Given the description of an element on the screen output the (x, y) to click on. 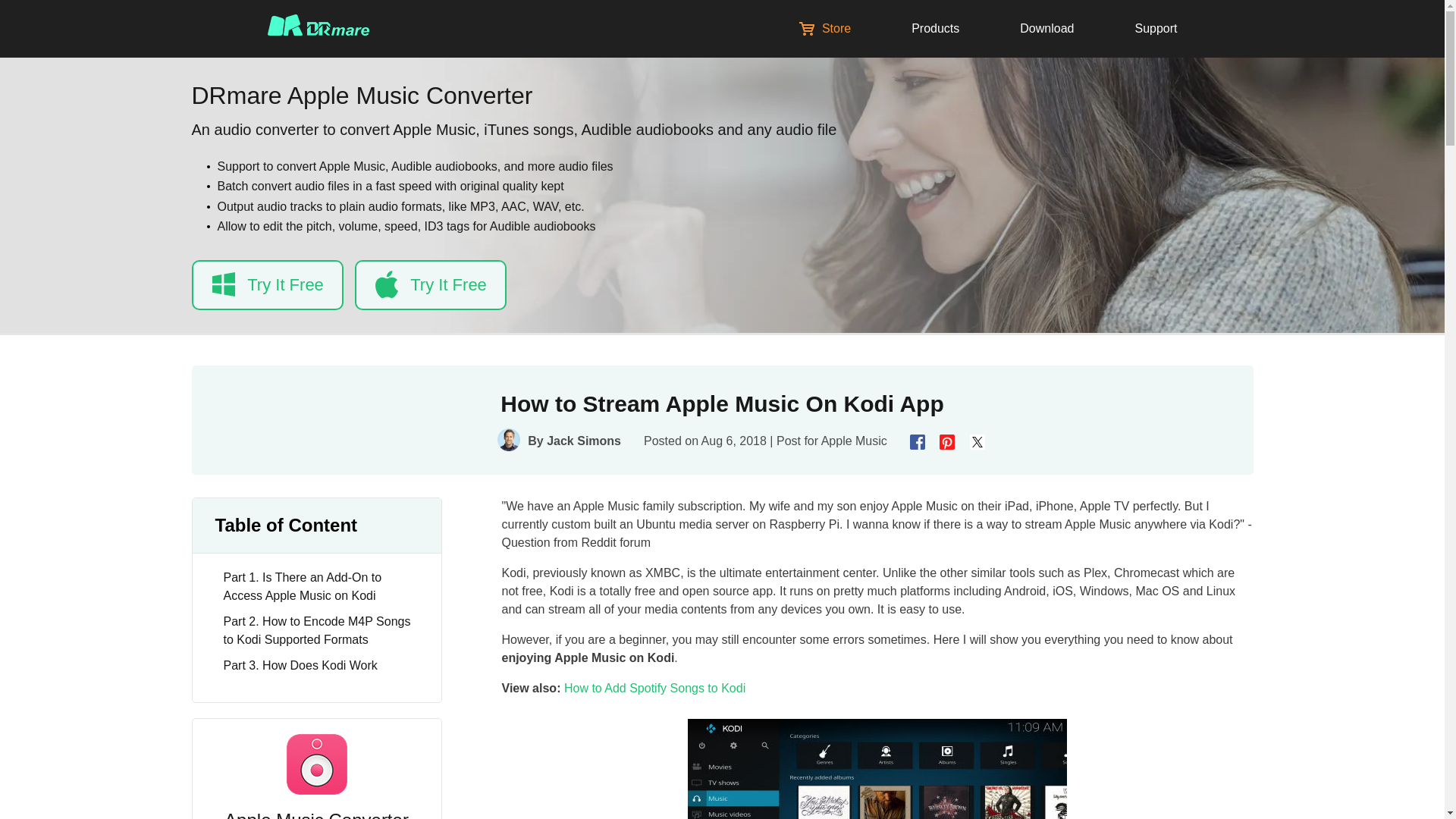
DRmare Apple Music Converter (361, 94)
Apple Music (853, 440)
Jack Simons (584, 440)
Try It Free (266, 284)
Try It Free (430, 284)
Pinterest (948, 444)
Part 1. Is There an Add-On to Access Apple Music on Kodi (323, 586)
Facebook (919, 444)
Download (1047, 28)
How to Add Spotify Songs to Kodi (654, 687)
